Given the description of an element on the screen output the (x, y) to click on. 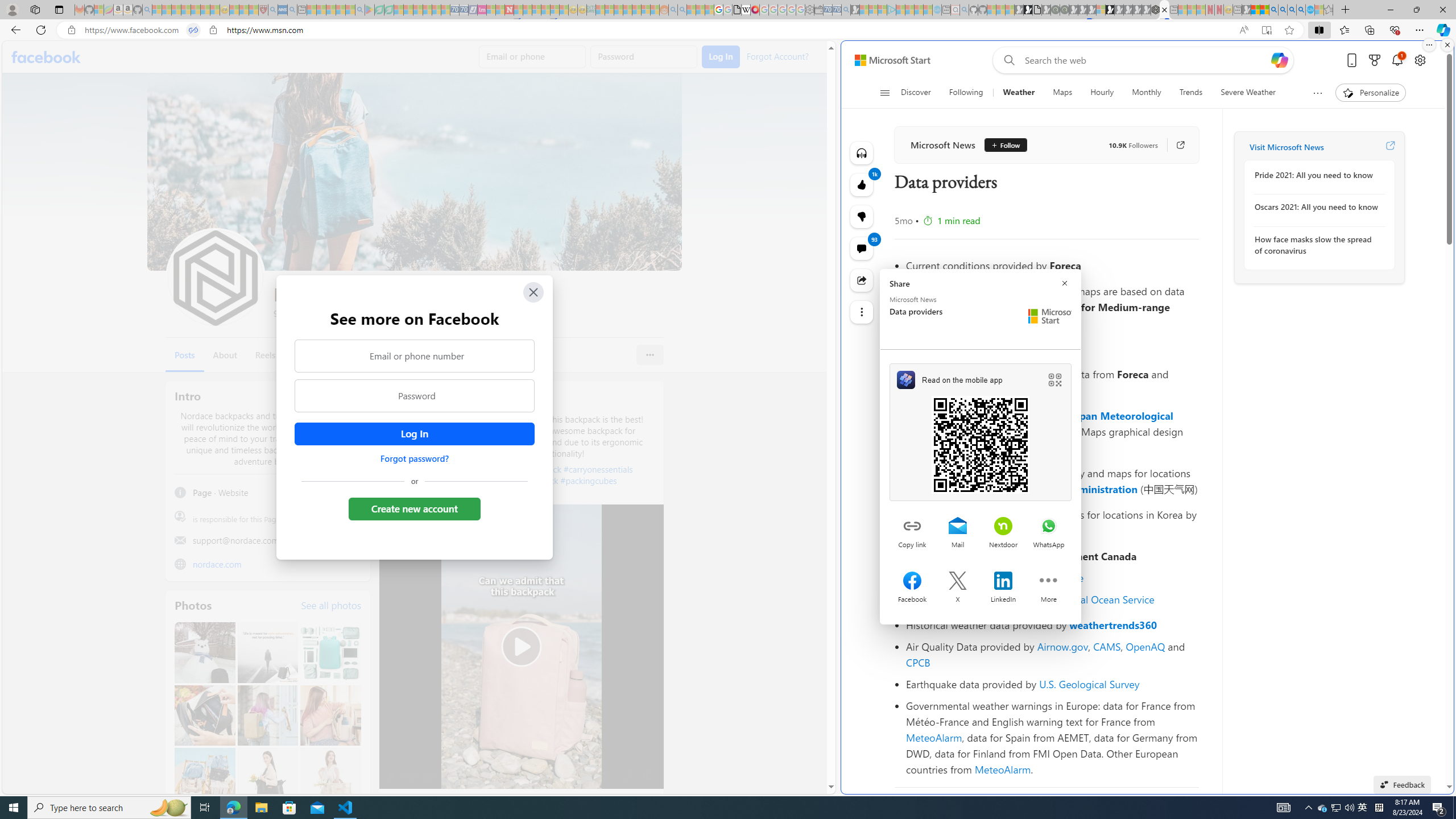
Tabs in split screen (193, 29)
MSN - Sleeping (1246, 9)
Maps (1062, 92)
